Given the description of an element on the screen output the (x, y) to click on. 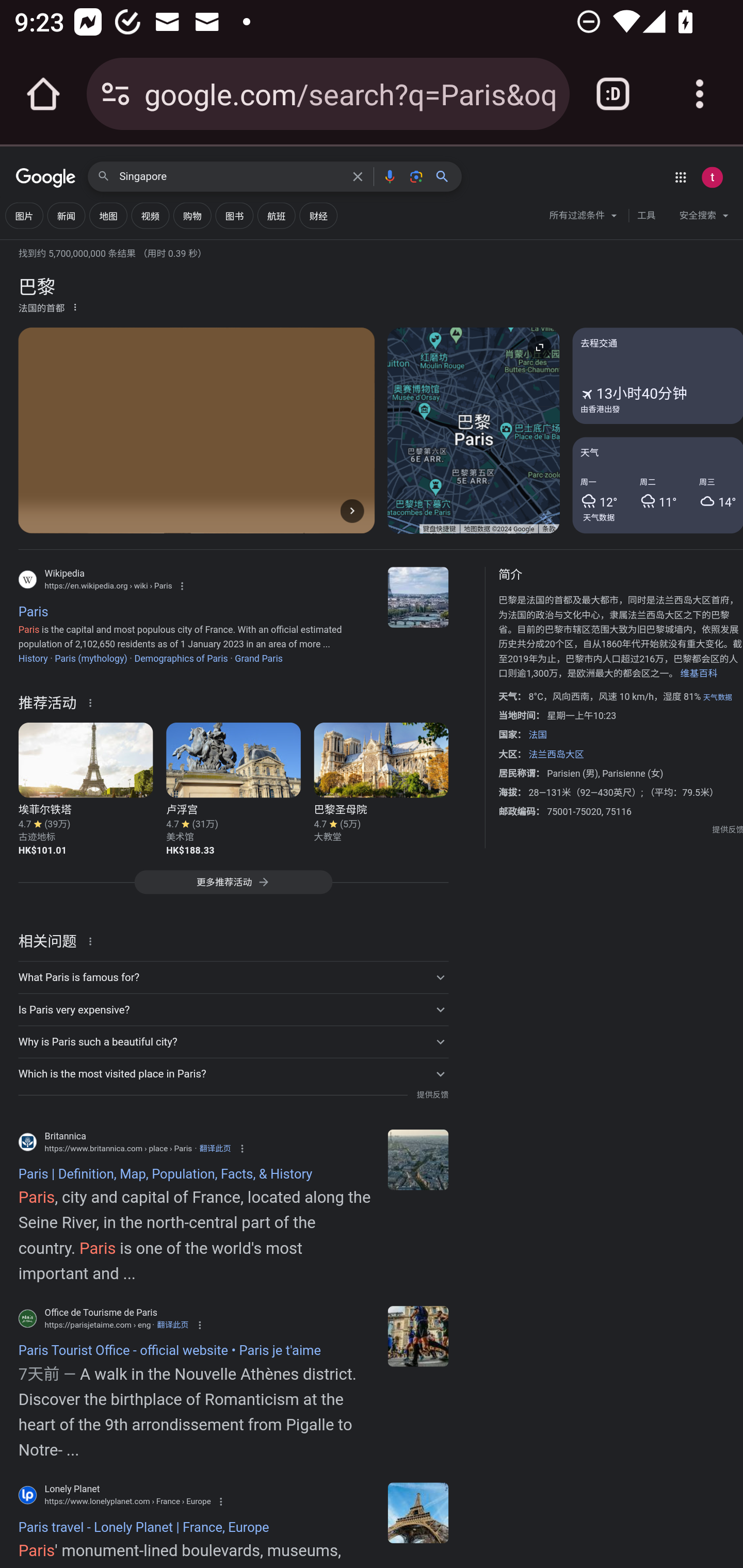
Open the home page (43, 93)
Connection is secure (115, 93)
Switch or close tabs (612, 93)
Customize and control Google Chrome (699, 93)
清除 (357, 176)
按语音搜索 (389, 176)
按图搜索 (415, 176)
搜索 (446, 176)
Google 应用 (680, 176)
Google 账号： test appium (testappium002@gmail.com) (712, 176)
Google (45, 178)
Singapore (229, 177)
图片 (24, 215)
新闻 (65, 215)
地图 (107, 215)
视频 (149, 215)
购物 (191, 215)
图书 (234, 215)
航班 (276, 215)
财经 (318, 215)
所有过滤条件 (583, 217)
工具 (646, 215)
安全搜索 (703, 217)
更多选项 (74, 306)
去程交通 13小时40分钟 乘坐飞机 由香港出發 (657, 375)
展开地图 (539, 346)
天气 周一 高温 12 度 周二 高温 11 度 周三 高温 14 度 (657, 484)
下一张图片 (352, 510)
天气数据 (599, 516)
Paris (417, 597)
History (32, 658)
Paris (mythology) (90, 658)
Demographics of Paris (180, 658)
Grand Paris (258, 658)
维基百科 (697, 672)
天气数据 (717, 697)
关于这条结果的详细信息 (93, 701)
法国 (537, 734)
法兰西岛大区 (555, 753)
提供反馈 (727, 829)
更多推荐活动 (232, 887)
关于这条结果的详细信息 (93, 939)
What Paris is famous for? (232, 977)
Is Paris very expensive? (232, 1009)
Why is Paris such a beautiful city? (232, 1041)
Which is the most visited place in Paris? (232, 1072)
提供反馈 (432, 1094)
Paris (417, 1159)
翻译此页 (215, 1148)
eng (417, 1336)
翻译此页 (172, 1324)
paris (417, 1511)
